Given the description of an element on the screen output the (x, y) to click on. 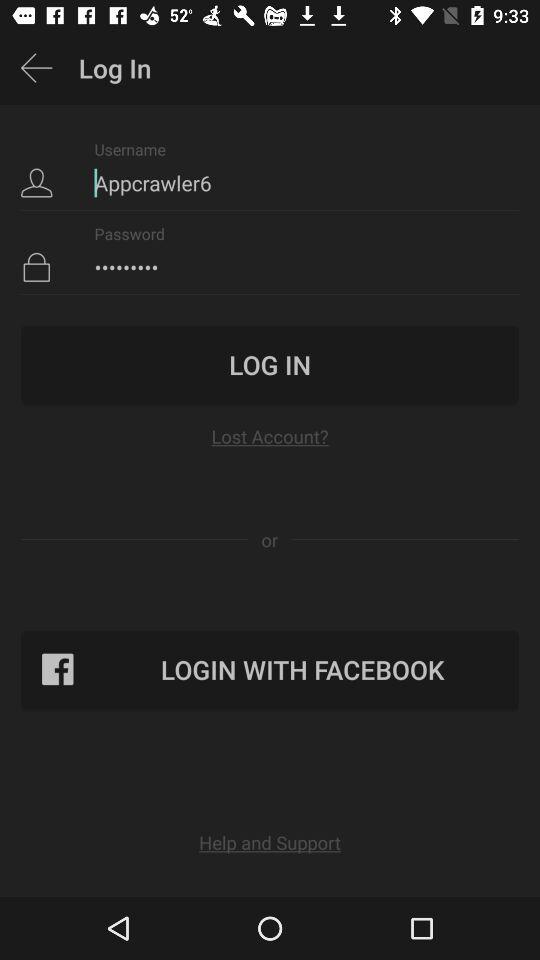
go back (36, 68)
